Given the description of an element on the screen output the (x, y) to click on. 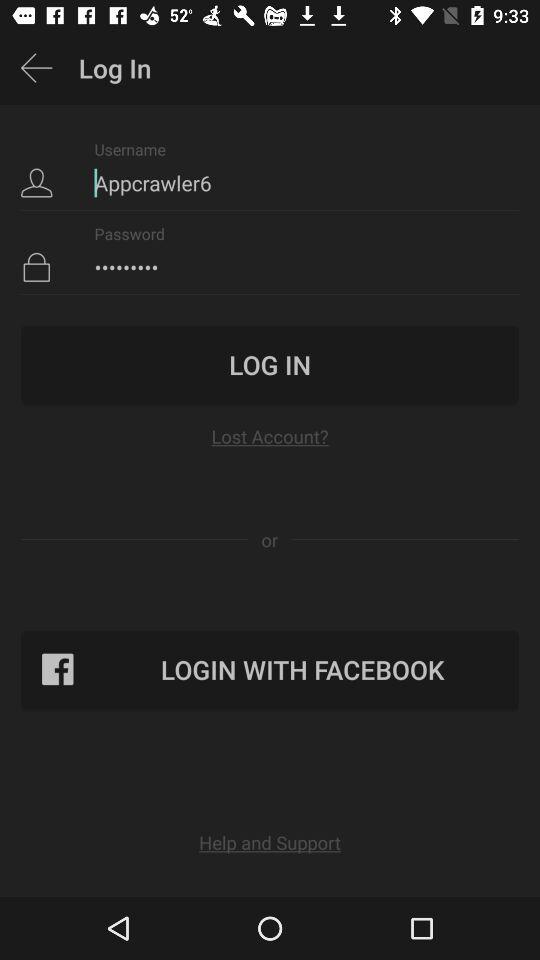
go back (36, 68)
